Given the description of an element on the screen output the (x, y) to click on. 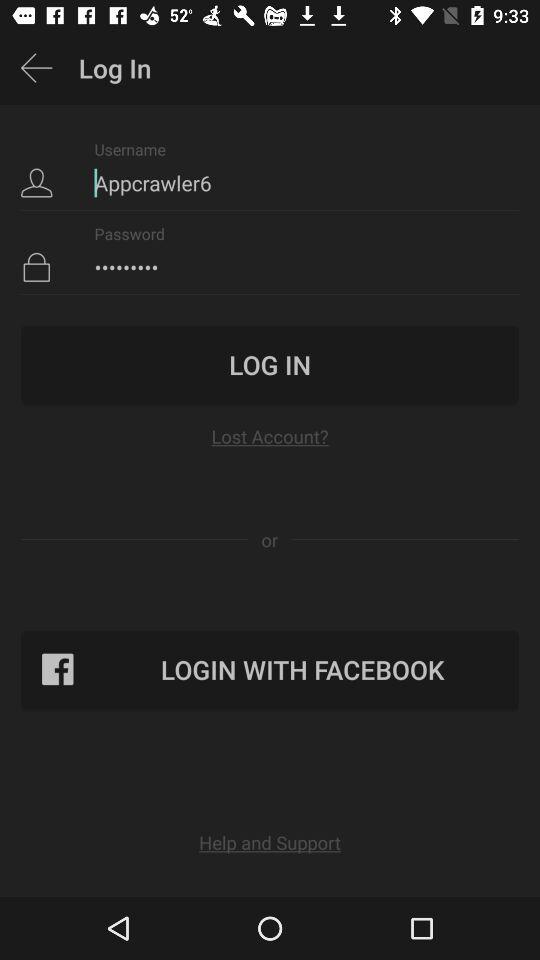
go back (36, 68)
